Given the description of an element on the screen output the (x, y) to click on. 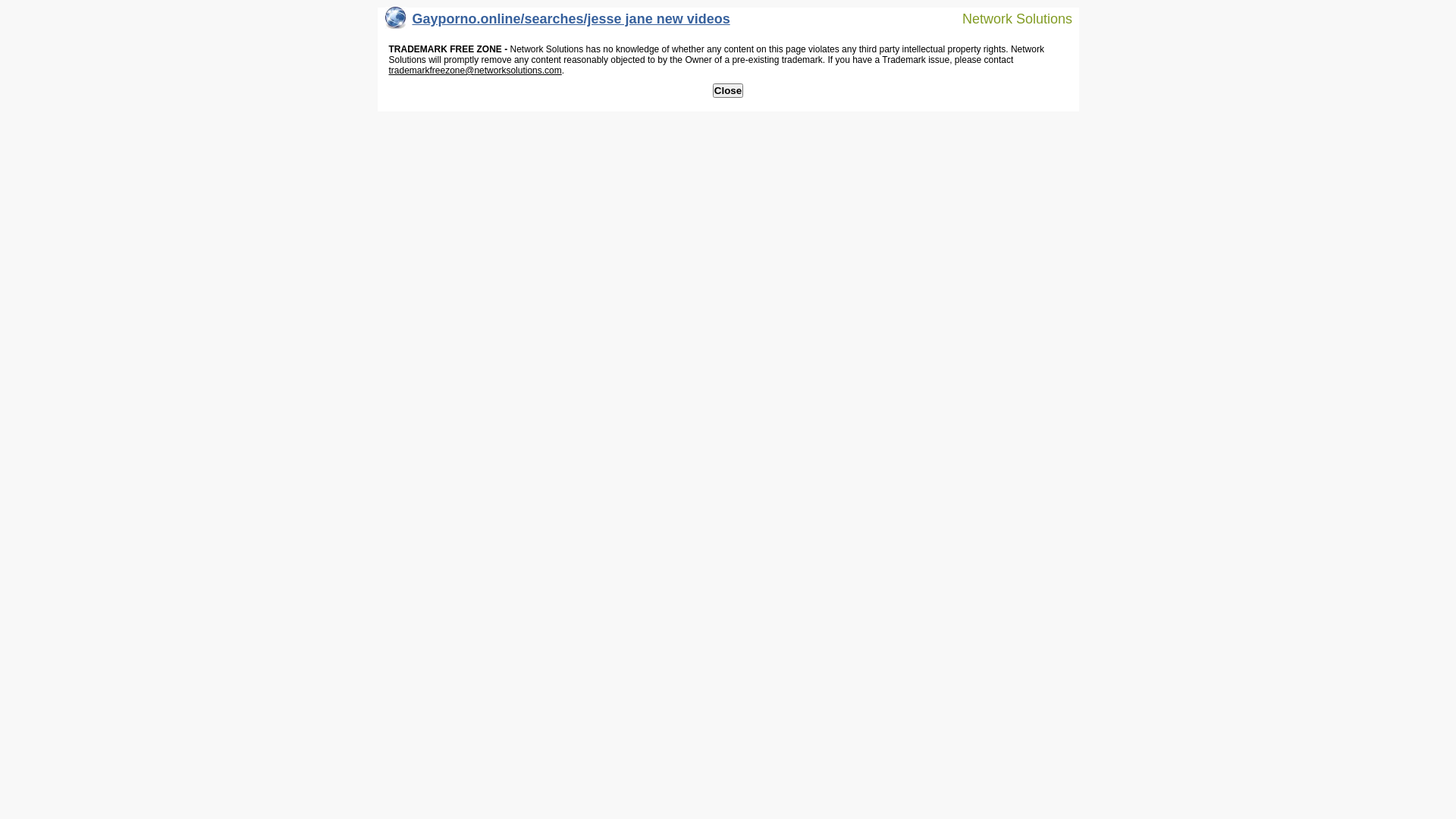
trademarkfreezone@networksolutions.com Element type: text (474, 70)
Network Solutions Element type: text (1007, 17)
Close Element type: text (727, 90)
Gayporno.online/searches/jesse jane new videos Element type: text (557, 21)
